Given the description of an element on the screen output the (x, y) to click on. 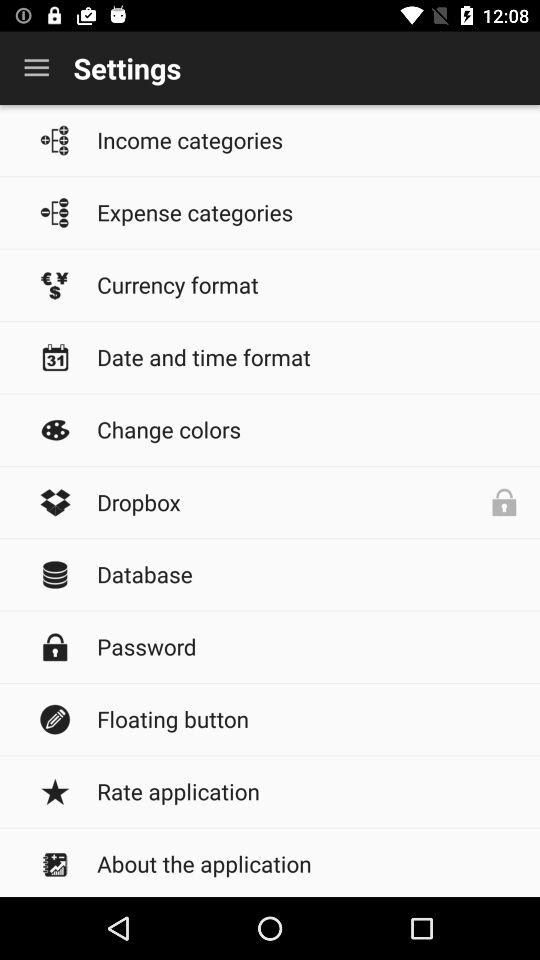
jump until database icon (308, 574)
